Given the description of an element on the screen output the (x, y) to click on. 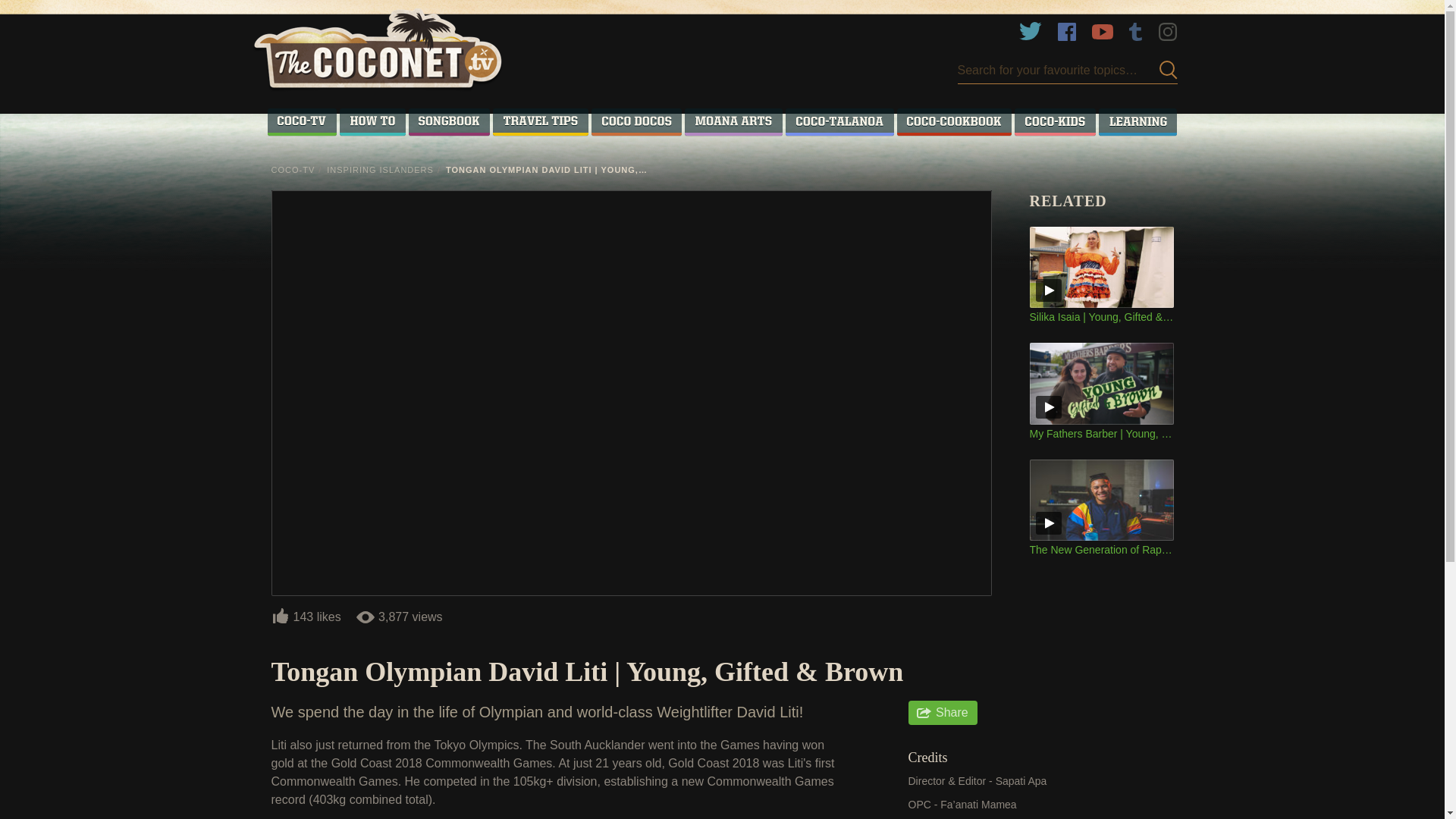
HOW TO... (372, 121)
COCO-TV (301, 121)
AROUND THE WORLD (540, 121)
SONGBOOK (449, 121)
Submit (1163, 70)
